Given the description of an element on the screen output the (x, y) to click on. 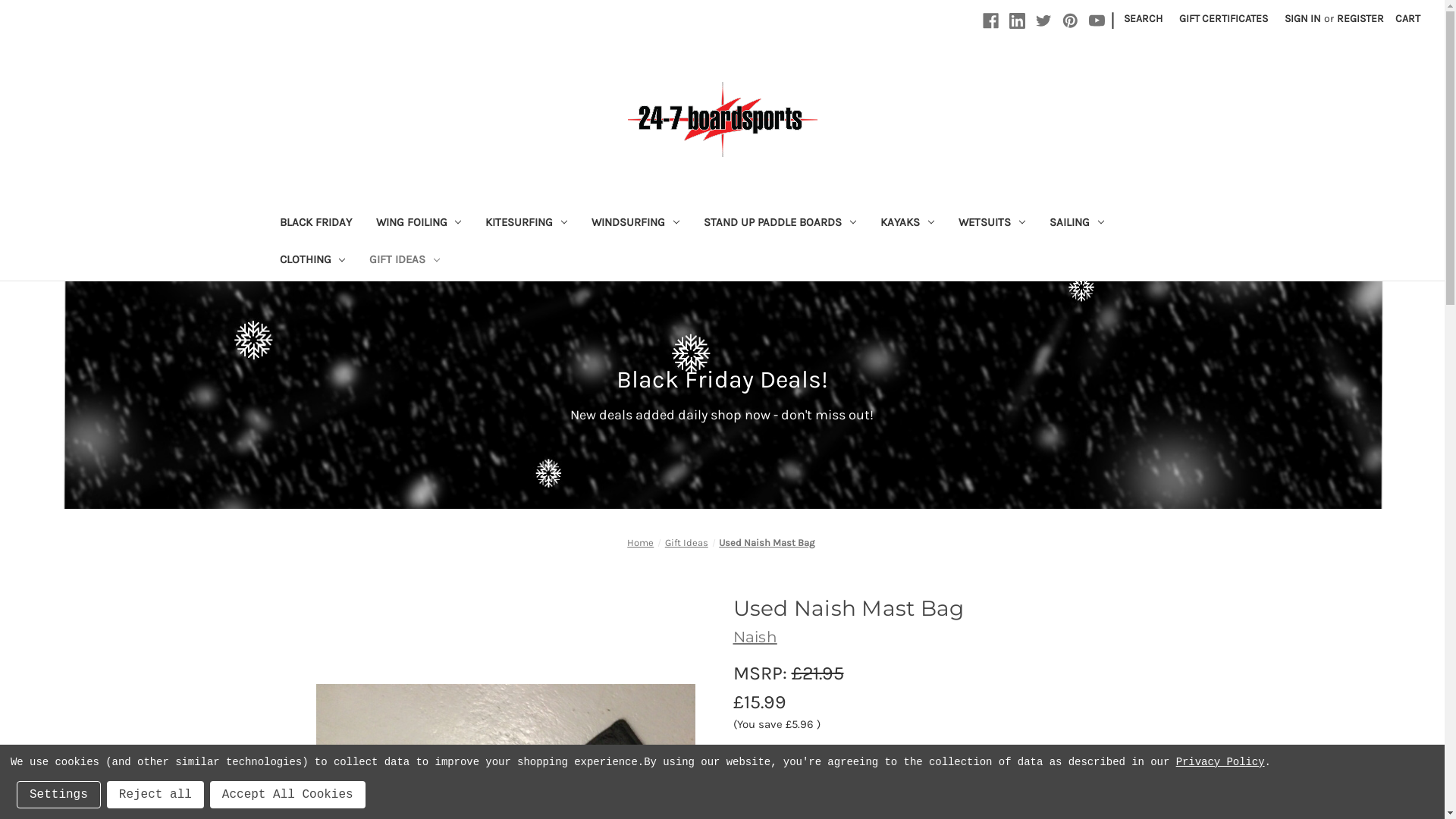
BLACK FRIDAY Element type: text (314, 223)
Home Element type: text (640, 542)
Write a Review Element type: text (921, 752)
Linkedin Element type: hover (1017, 20)
Facebook Element type: hover (990, 20)
Privacy Policy Element type: text (1220, 762)
Twitter Element type: hover (1043, 20)
STAND UP PADDLE BOARDS Element type: text (779, 223)
GIFT IDEAS Element type: text (404, 260)
WETSUITS Element type: text (991, 223)
Youtube Element type: hover (1096, 20)
Reject all Element type: text (154, 794)
KAYAKS Element type: text (907, 223)
24-7 Boardsports Element type: hover (722, 119)
Accept All Cookies Element type: text (287, 794)
Used Naish Mast Bag Element type: text (766, 542)
SIGN IN Element type: text (1302, 18)
WING FOILING Element type: text (418, 223)
REGISTER Element type: text (1360, 18)
CLOTHING Element type: text (311, 260)
GIFT CERTIFICATES Element type: text (1223, 18)
Pinterest Element type: hover (1070, 20)
KITESURFING Element type: text (526, 223)
Naish Element type: text (754, 636)
WINDSURFING Element type: text (635, 223)
CART Element type: text (1407, 18)
SEARCH Element type: text (1142, 18)
Settings Element type: text (58, 794)
Gift Ideas Element type: text (686, 542)
SAILING Element type: text (1076, 223)
